Given the description of an element on the screen output the (x, y) to click on. 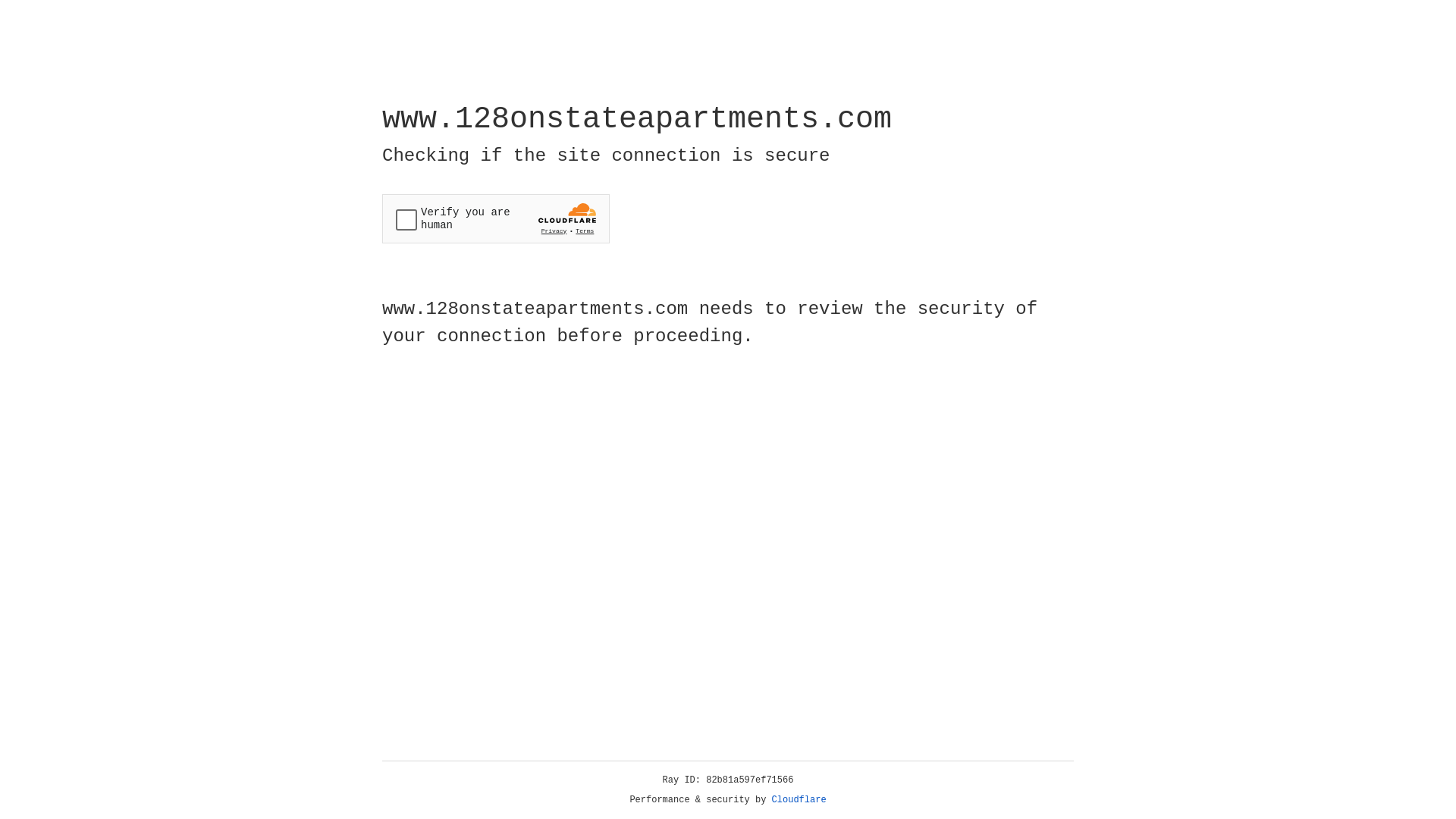
Widget containing a Cloudflare security challenge Element type: hover (495, 218)
Cloudflare Element type: text (798, 799)
